Given the description of an element on the screen output the (x, y) to click on. 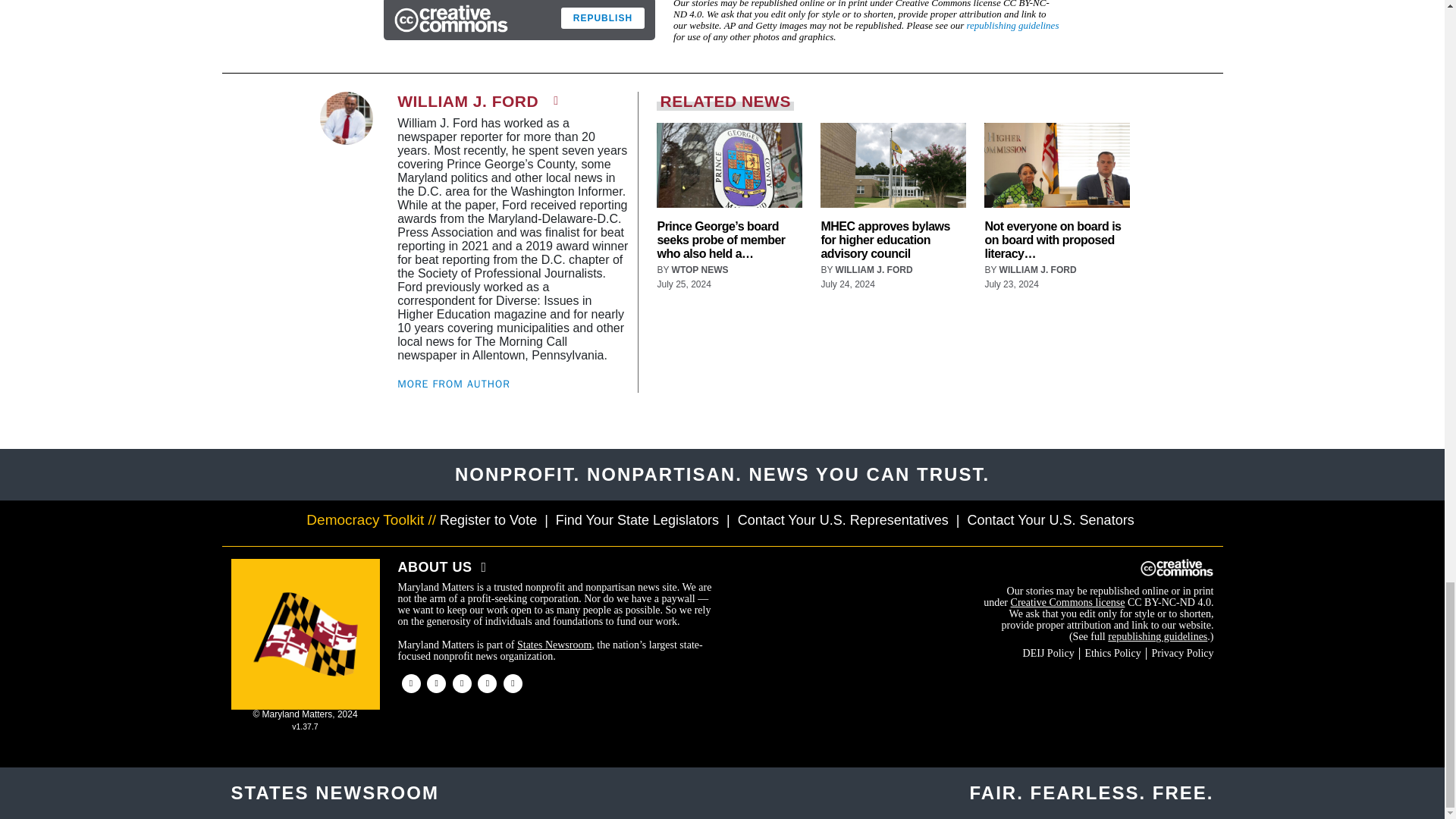
Posts by William J. Ford (873, 269)
Posts by WTOP News (700, 269)
Posts by William J. Ford (1037, 269)
